Given the description of an element on the screen output the (x, y) to click on. 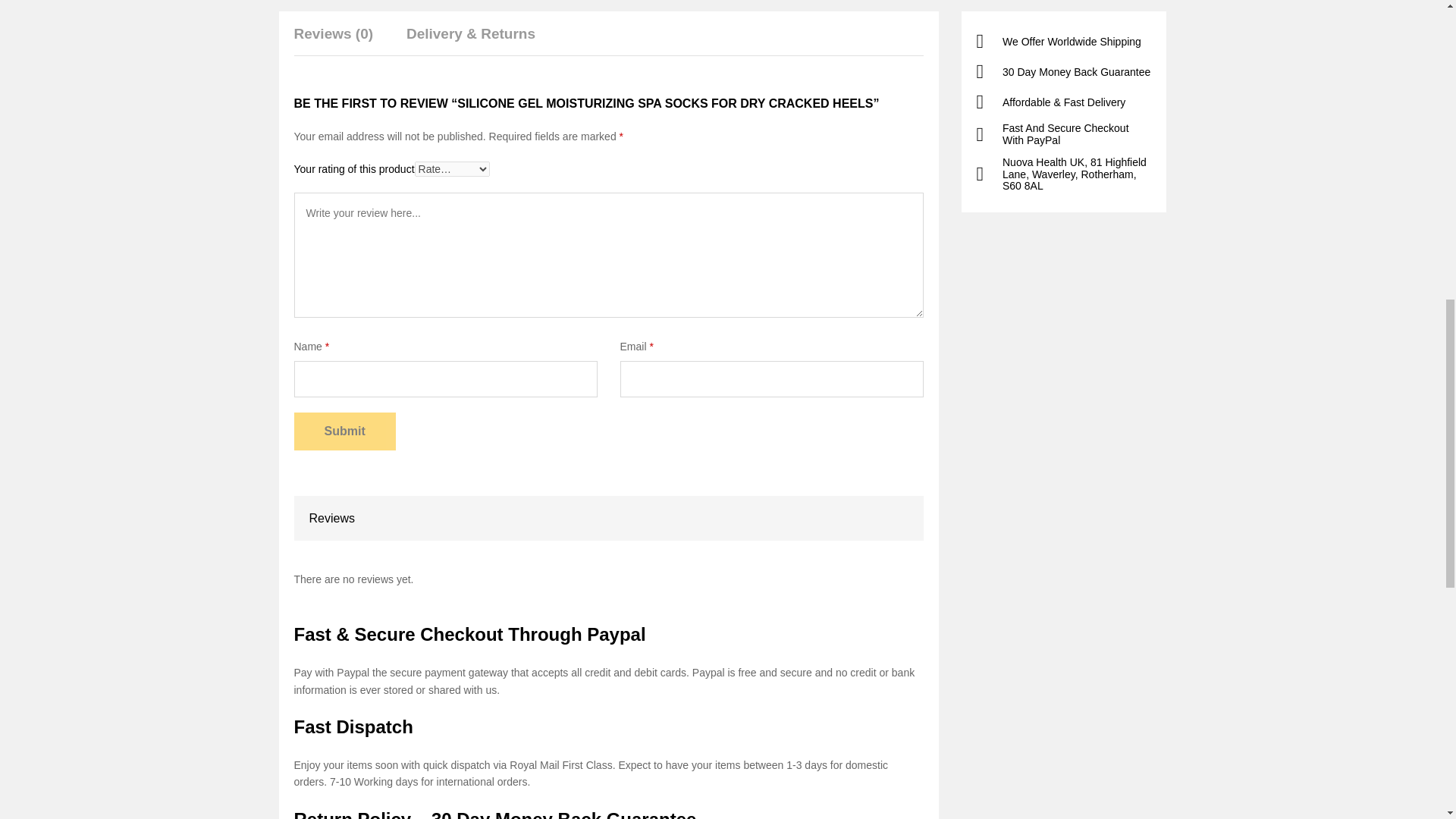
Submit (345, 431)
